Given the description of an element on the screen output the (x, y) to click on. 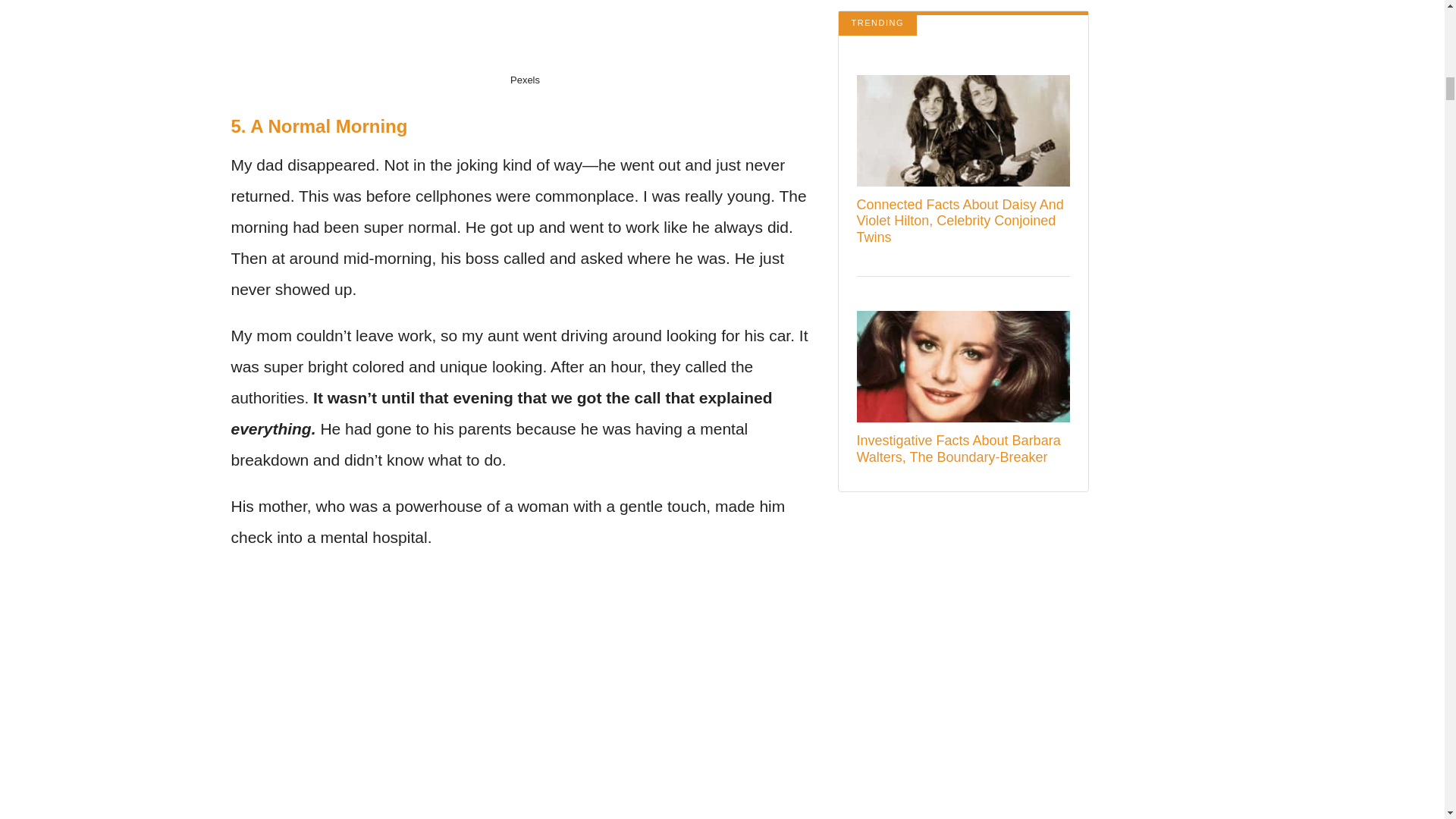
Pexels (525, 79)
